Given the description of an element on the screen output the (x, y) to click on. 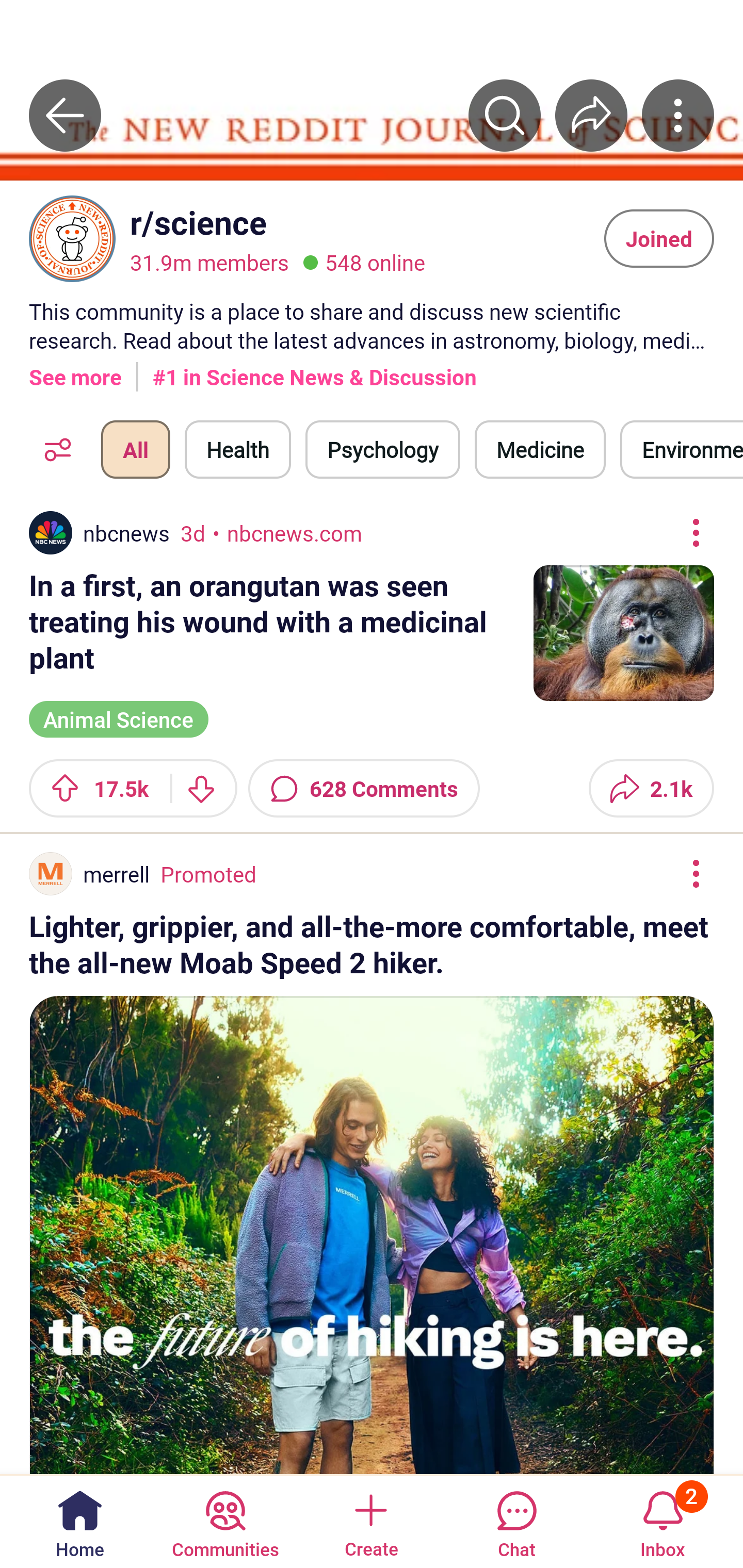
Back (64, 115)
Search r/﻿science (504, 115)
Share r/﻿science (591, 115)
More community actions (677, 115)
Feed Options (53, 449)
All (135, 449)
Health (238, 449)
Psychology (382, 449)
Medicine (539, 449)
Environment (681, 449)
Animal Science (118, 716)
Home (80, 1520)
Communities (225, 1520)
Create a post Create (370, 1520)
Chat (516, 1520)
Inbox, has 2 notifications 2 Inbox (662, 1520)
